Given the description of an element on the screen output the (x, y) to click on. 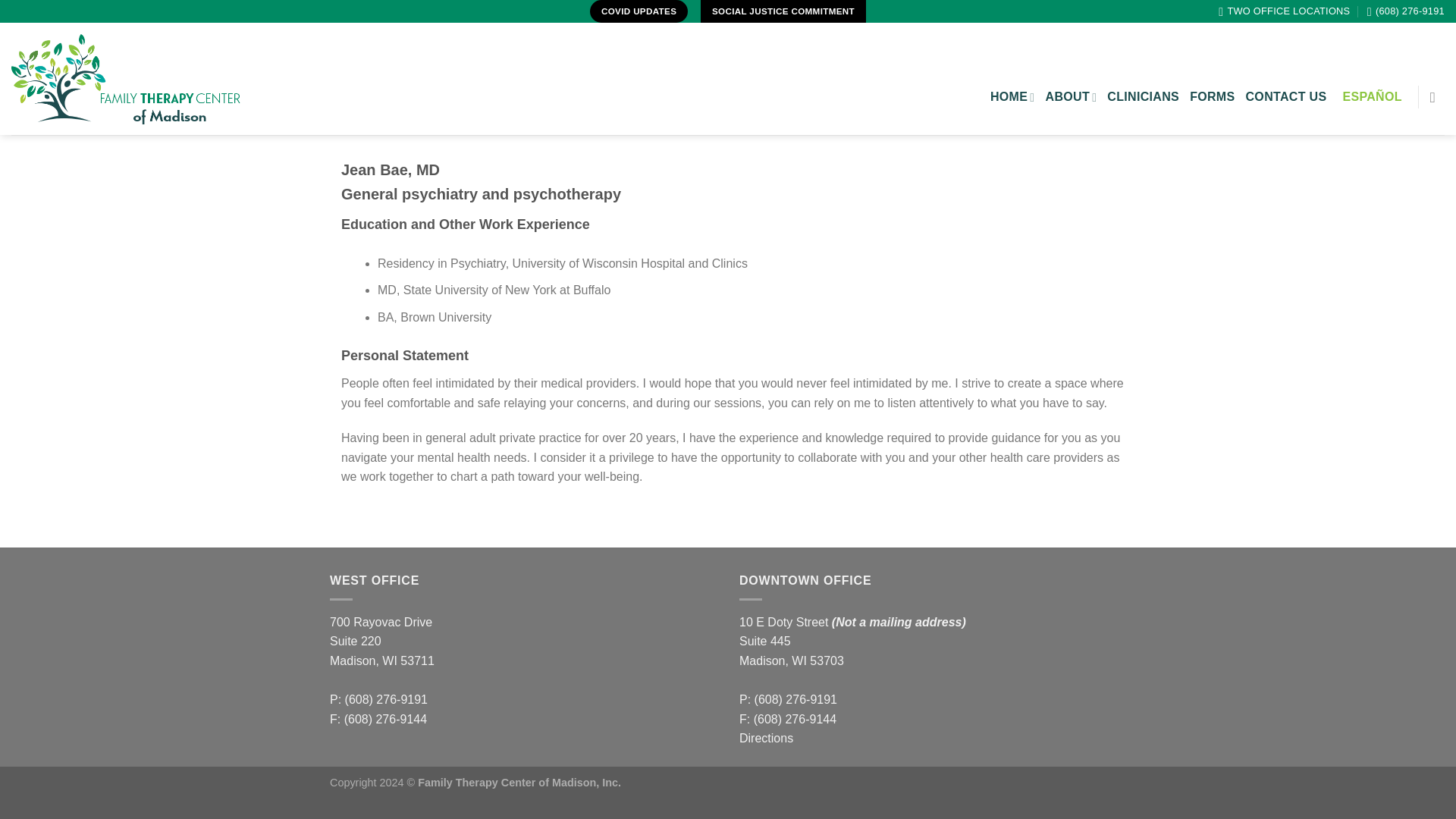
HOME (1012, 96)
COVID UPDATES (638, 11)
Directions (766, 738)
CONTACT US (1285, 96)
TWO OFFICE LOCATIONS (1283, 11)
FORMS (1211, 96)
CLINICIANS (1142, 96)
ABOUT (1071, 96)
SOCIAL JUSTICE COMMITMENT (783, 11)
